Given the description of an element on the screen output the (x, y) to click on. 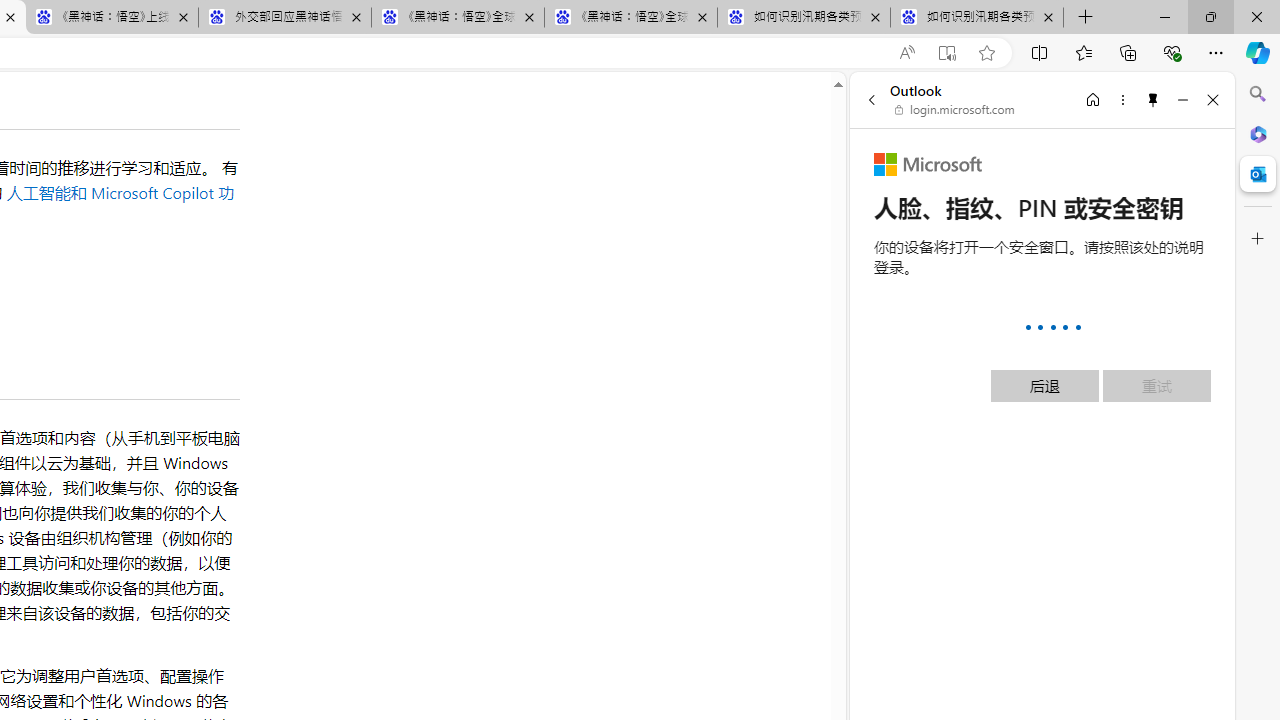
login.microsoft.com (955, 110)
